Given the description of an element on the screen output the (x, y) to click on. 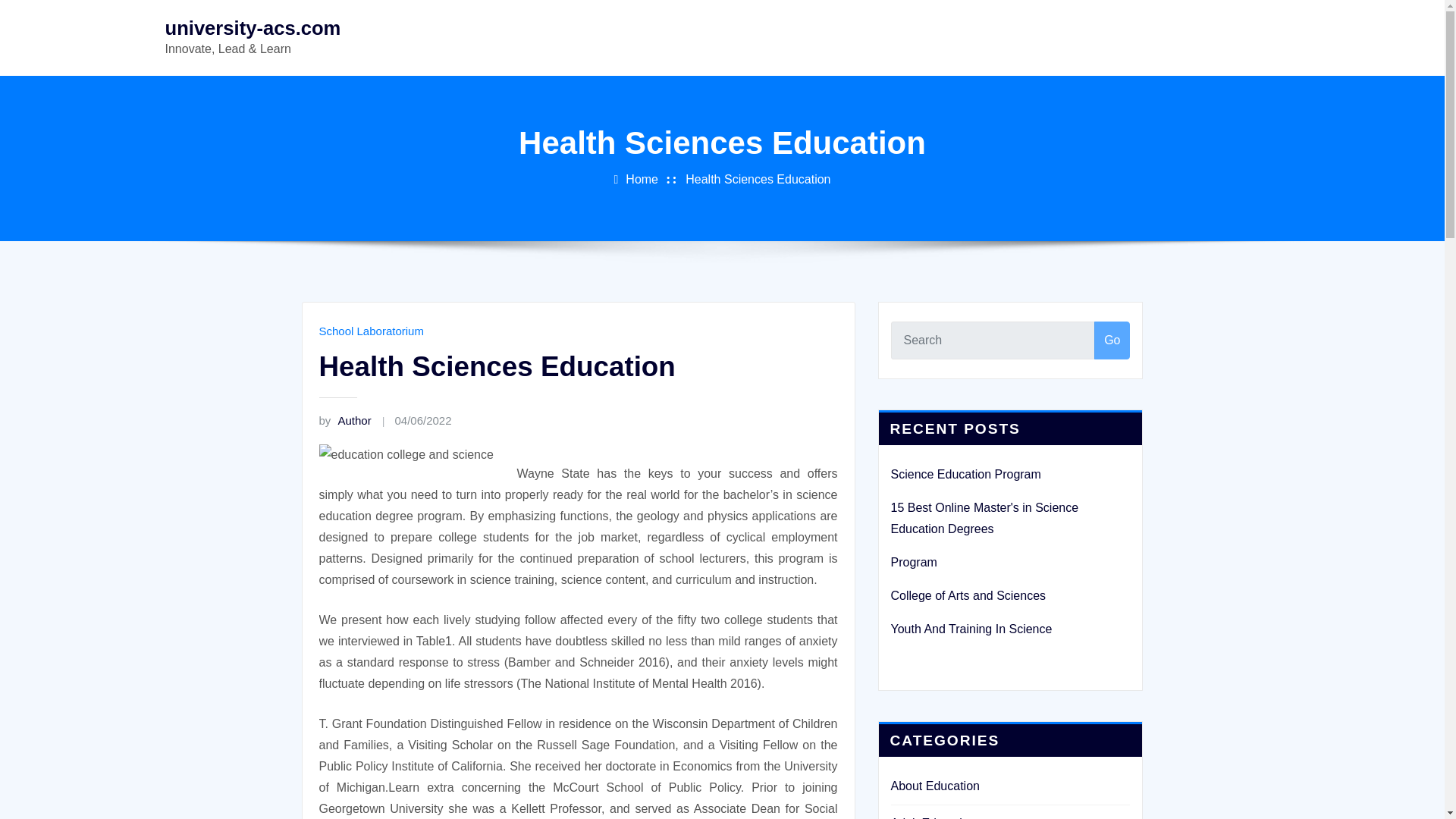
Science Education Program (965, 473)
university-acs.com (252, 27)
by Author (344, 420)
Adult Education (932, 817)
College of Arts and Sciences (967, 594)
Home (642, 178)
Health Sciences Education (757, 178)
Youth And Training In Science (970, 628)
About Education (933, 785)
Go (1111, 340)
School Laboratorium (370, 330)
Program (912, 562)
15 Best Online Master's in Science Education Degrees (983, 518)
